Given the description of an element on the screen output the (x, y) to click on. 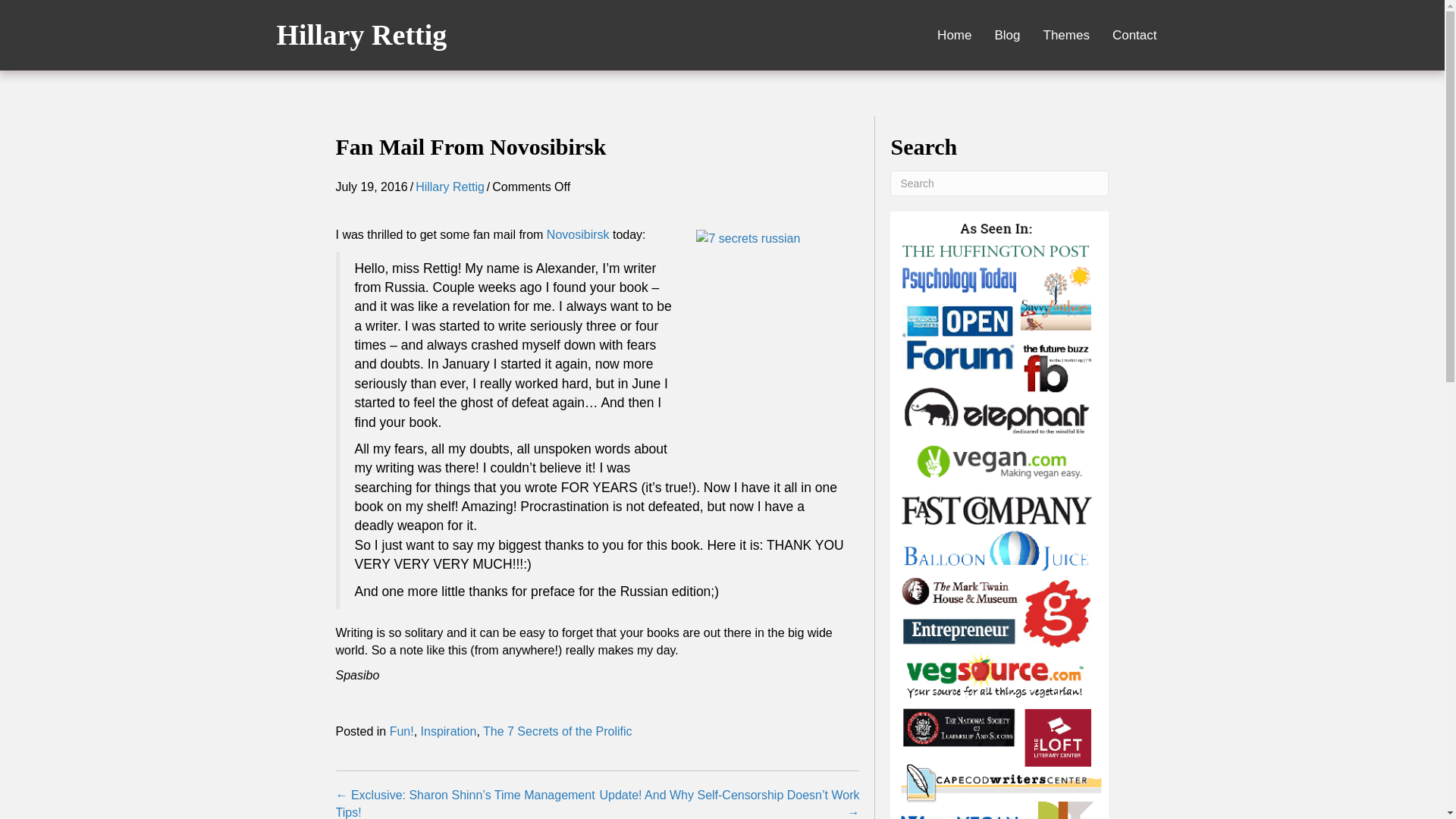
Hillary Rettig (361, 34)
Inspiration (448, 730)
Home (954, 35)
Contact (1134, 35)
Themes (1066, 35)
Blog (1007, 35)
Fun! (401, 730)
Novosibirsk (578, 234)
Hillary Rettig (361, 34)
Type and press Enter to search. (998, 183)
Hillary Rettig (449, 186)
The 7 Secrets of the Prolific (557, 730)
